Given the description of an element on the screen output the (x, y) to click on. 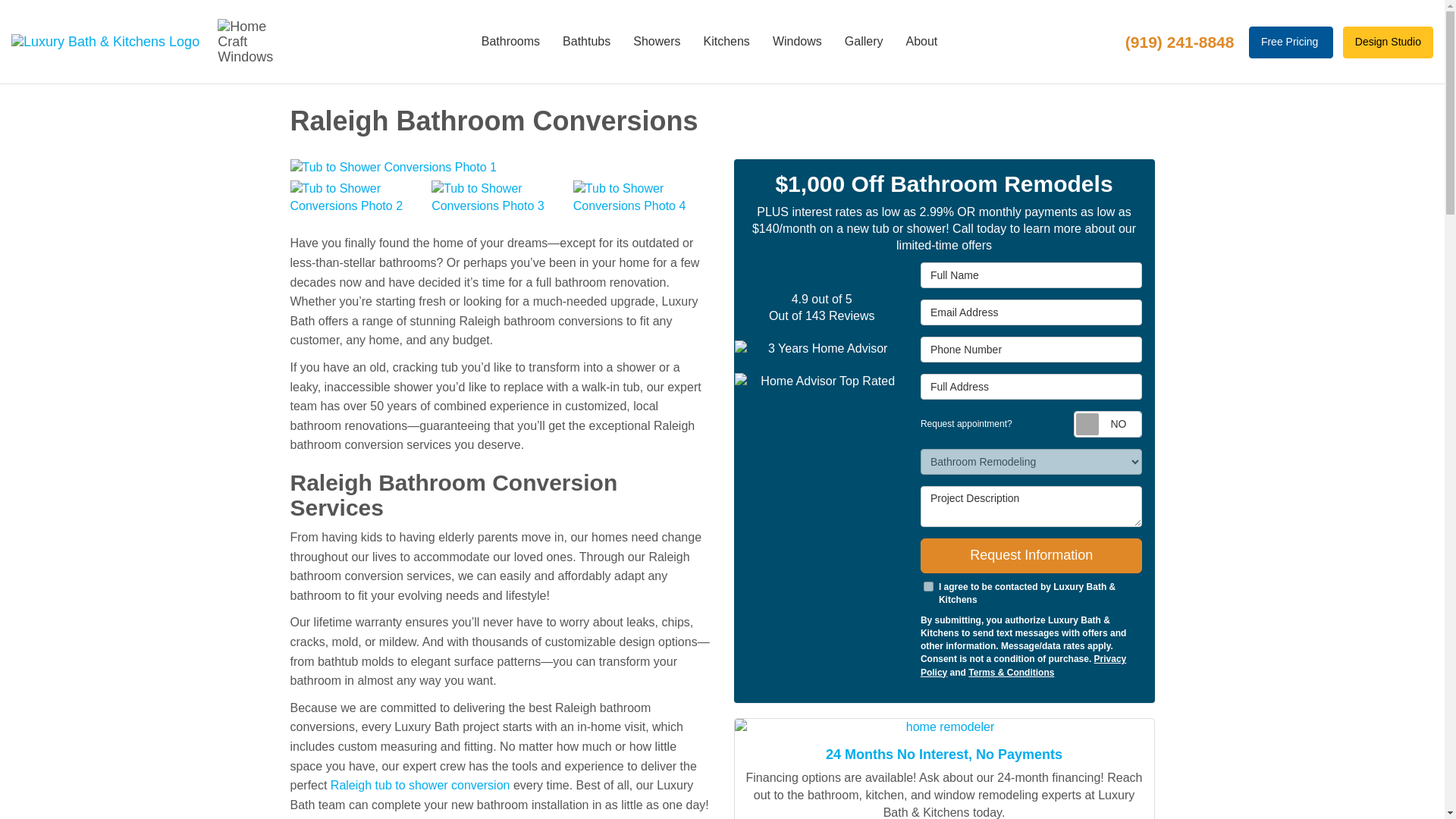
Bathrooms (510, 41)
Free Pricing (1291, 42)
checked (928, 586)
Design Studio (1387, 42)
Free Pricing (1291, 42)
